Given the description of an element on the screen output the (x, y) to click on. 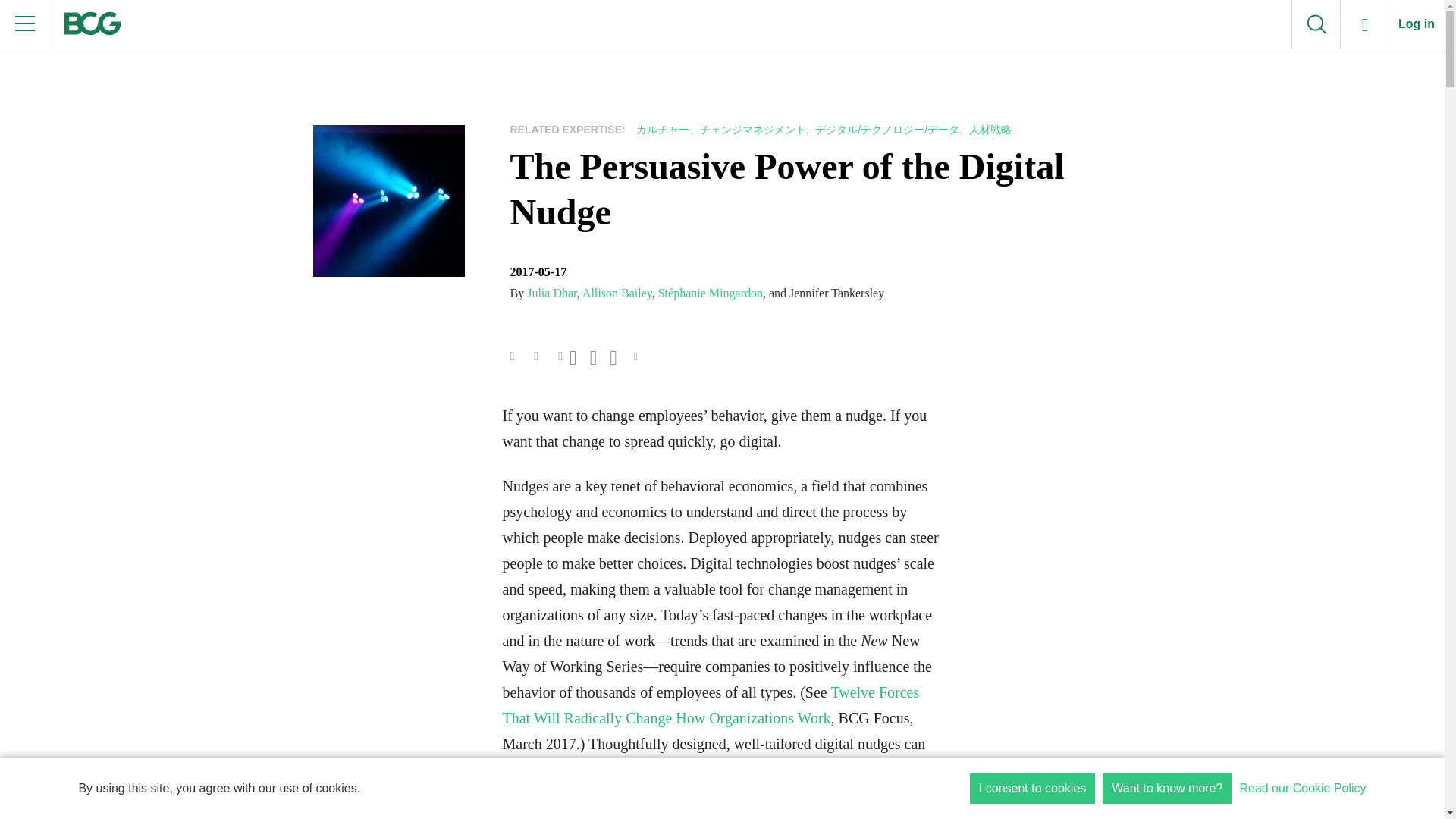
BCG-The-Persuasive-Power-of-the-Digital-Nudge.2-May-2017.pdf (537, 353)
Allison Bailey (617, 292)
Julia Dhar (551, 292)
Log in (1416, 24)
